Given the description of an element on the screen output the (x, y) to click on. 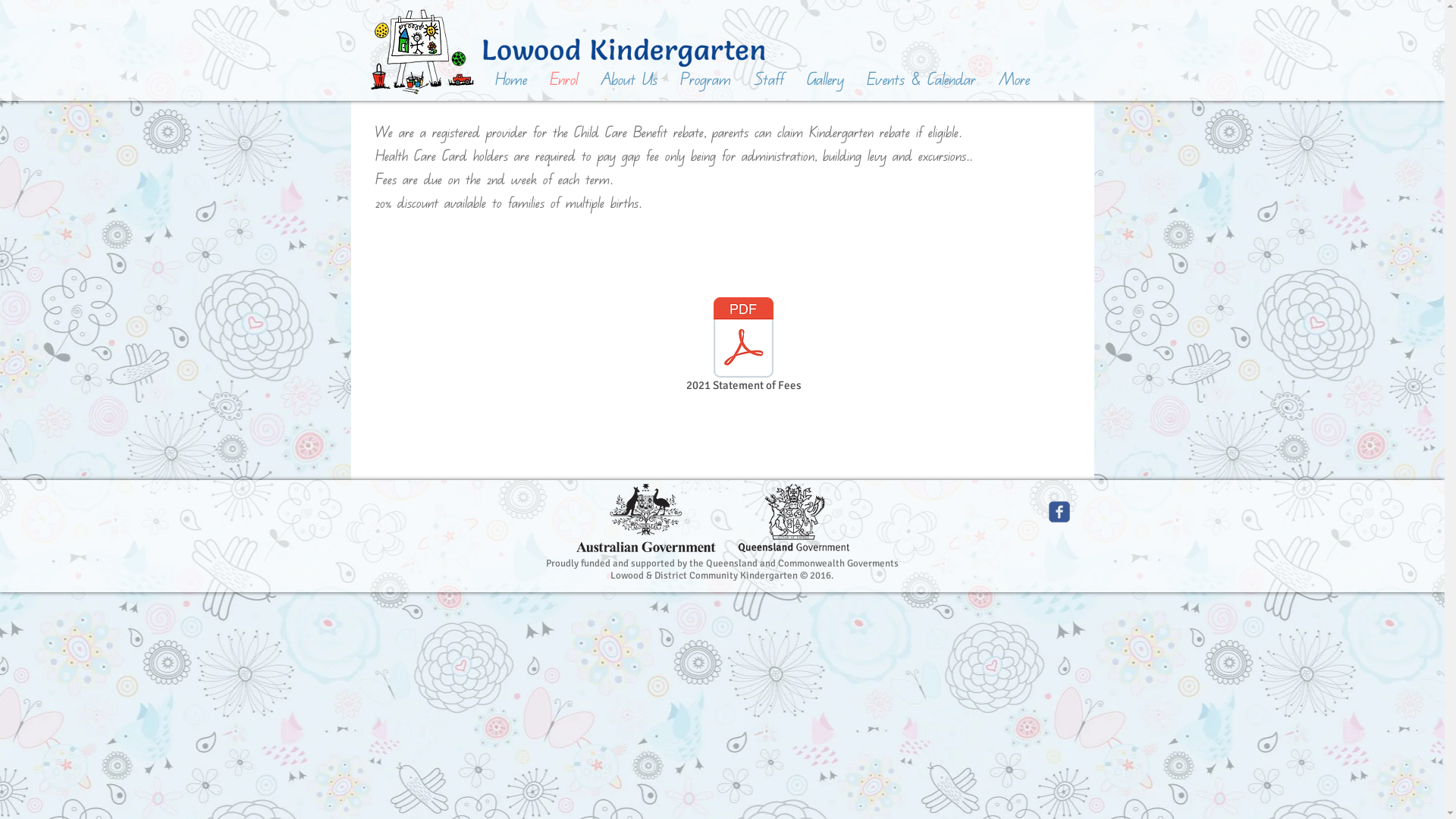
2021 Statement of Fees Element type: text (743, 347)
Table Master Element type: hover (722, 262)
Program Element type: text (705, 80)
About Us Element type: text (628, 80)
Enrol Element type: text (563, 80)
Gallery Element type: text (824, 80)
Staff Element type: text (767, 80)
Events & Calendar Element type: text (921, 80)
Home Element type: text (510, 80)
